Given the description of an element on the screen output the (x, y) to click on. 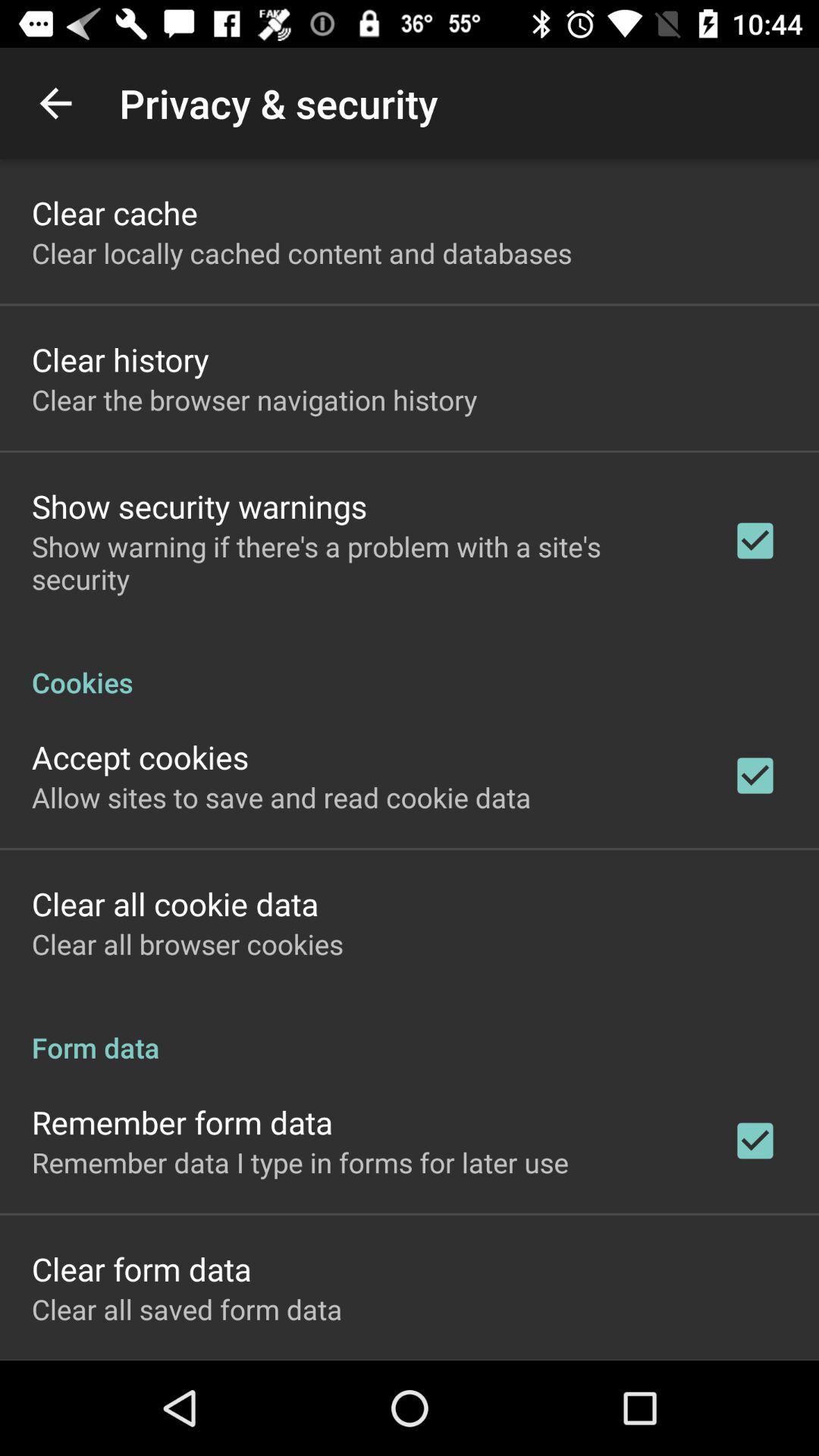
press the app above the allow sites to icon (140, 756)
